Given the description of an element on the screen output the (x, y) to click on. 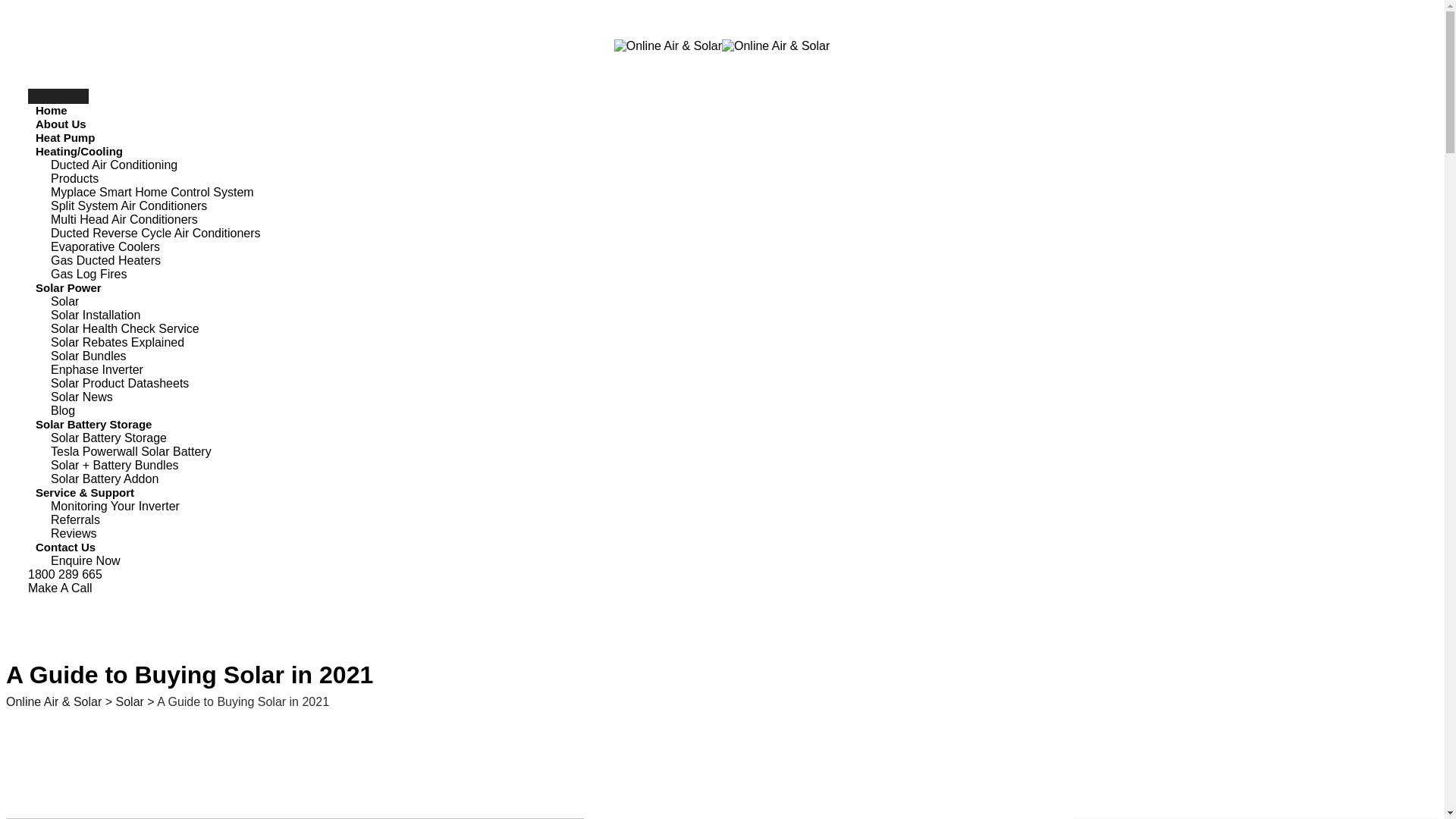
About Us Element type: text (60, 123)
Solar Bundles Element type: text (88, 355)
Solar Installation Element type: text (95, 314)
Online Air & Solar Element type: hover (775, 46)
Solar Power Element type: text (68, 287)
Reviews Element type: text (73, 533)
Multi Head Air Conditioners Element type: text (124, 219)
Solar Element type: text (64, 301)
Online Air & Solar Element type: hover (667, 46)
Solar Battery Storage Element type: text (108, 437)
Evaporative Coolers Element type: text (105, 246)
Solar + Battery Bundles Element type: text (114, 464)
Solar Element type: text (130, 701)
Tesla Powerwall Solar Battery Element type: text (131, 451)
Heating/Cooling Element type: text (78, 150)
Split System Air Conditioners Element type: text (128, 205)
Blog Element type: text (62, 410)
Enphase Inverter Element type: text (97, 369)
Home Element type: text (51, 109)
Referrals Element type: text (75, 519)
Heat Pump Element type: text (64, 137)
Products Element type: text (74, 178)
Gas Log Fires Element type: text (88, 273)
Solar Health Check Service Element type: text (125, 328)
Ducted Air Conditioning Element type: text (114, 164)
1800 289 665
Make A Call Element type: text (733, 581)
Skip to content Element type: text (5, 5)
Solar Battery Storage Element type: text (93, 423)
Solar Product Datasheets Element type: text (119, 383)
Service & Support Element type: text (84, 492)
Solar Battery Addon Element type: text (104, 478)
Myplace Smart Home Control System Element type: text (152, 191)
Ducted Reverse Cycle Air Conditioners Element type: text (155, 232)
Gas Ducted Heaters Element type: text (105, 260)
Contact Us Element type: text (65, 546)
Monitoring Your Inverter Element type: text (115, 505)
Enquire Now Element type: text (85, 560)
Online Air & Solar Element type: text (53, 701)
Solar News Element type: text (81, 396)
Solar Rebates Explained Element type: text (117, 342)
